Given the description of an element on the screen output the (x, y) to click on. 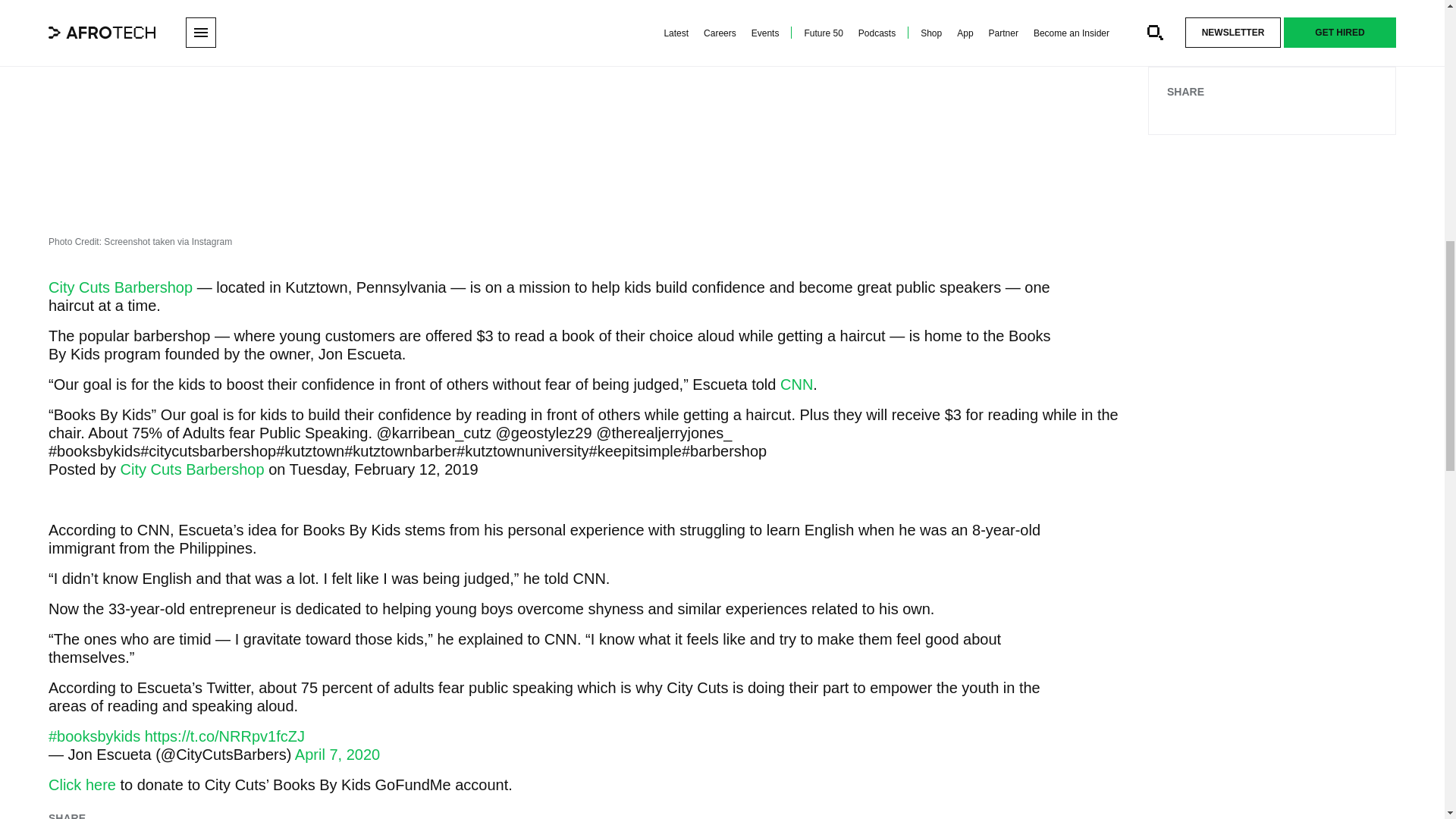
City Cuts Barbershop (192, 469)
CNN (796, 384)
City Cuts Barbershop (120, 287)
Click here (82, 784)
April 7, 2020 (337, 754)
